Given the description of an element on the screen output the (x, y) to click on. 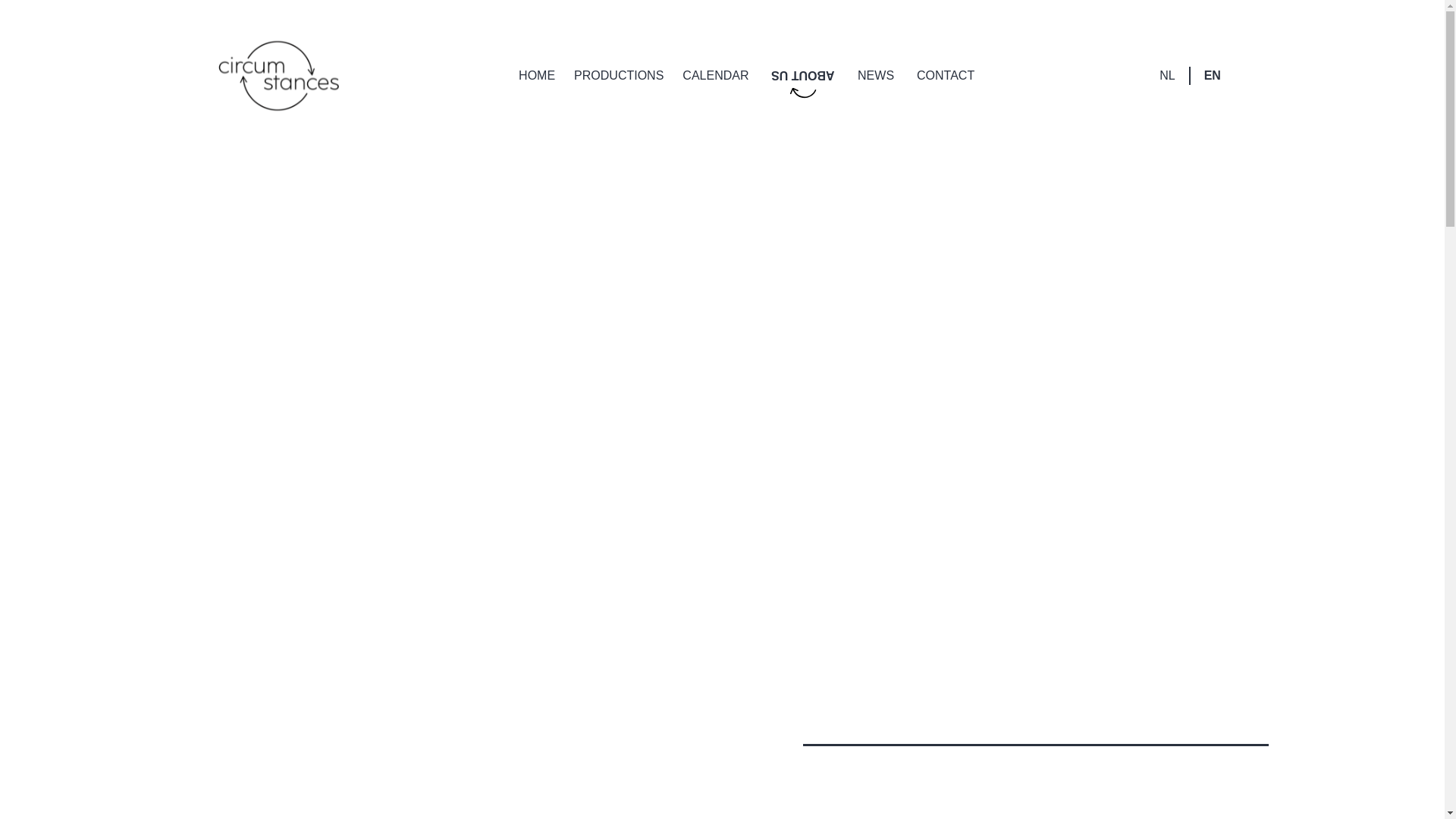
EN Element type: text (1212, 75)
NL Element type: text (1166, 75)
HOME Element type: text (536, 75)
ABOUT US Element type: text (802, 75)
CONTACT Element type: text (945, 75)
NEWS Element type: text (875, 75)
CALENDAR Element type: text (715, 75)
